Given the description of an element on the screen output the (x, y) to click on. 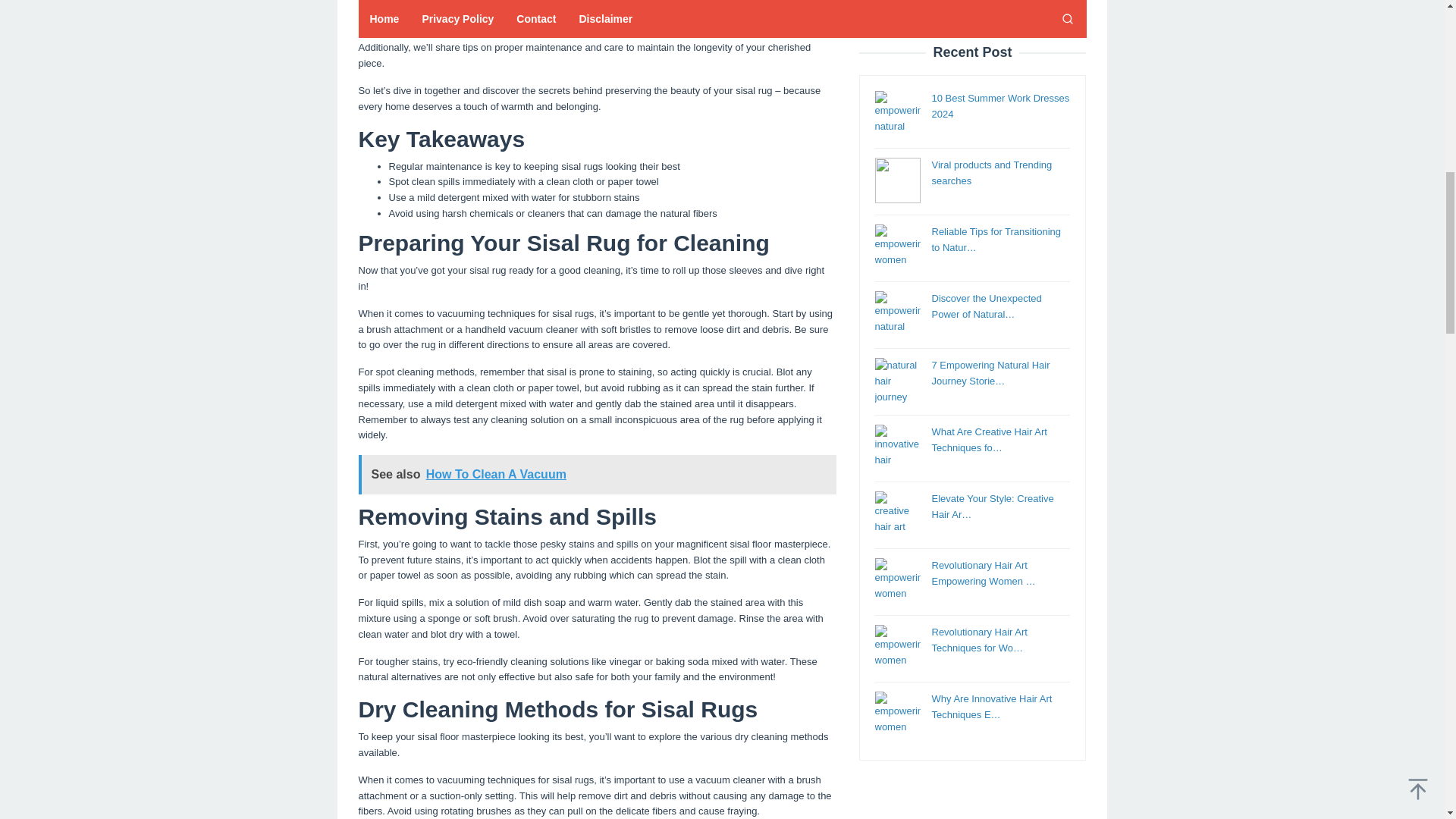
See also  How To Clean A Vacuum (596, 474)
